Given the description of an element on the screen output the (x, y) to click on. 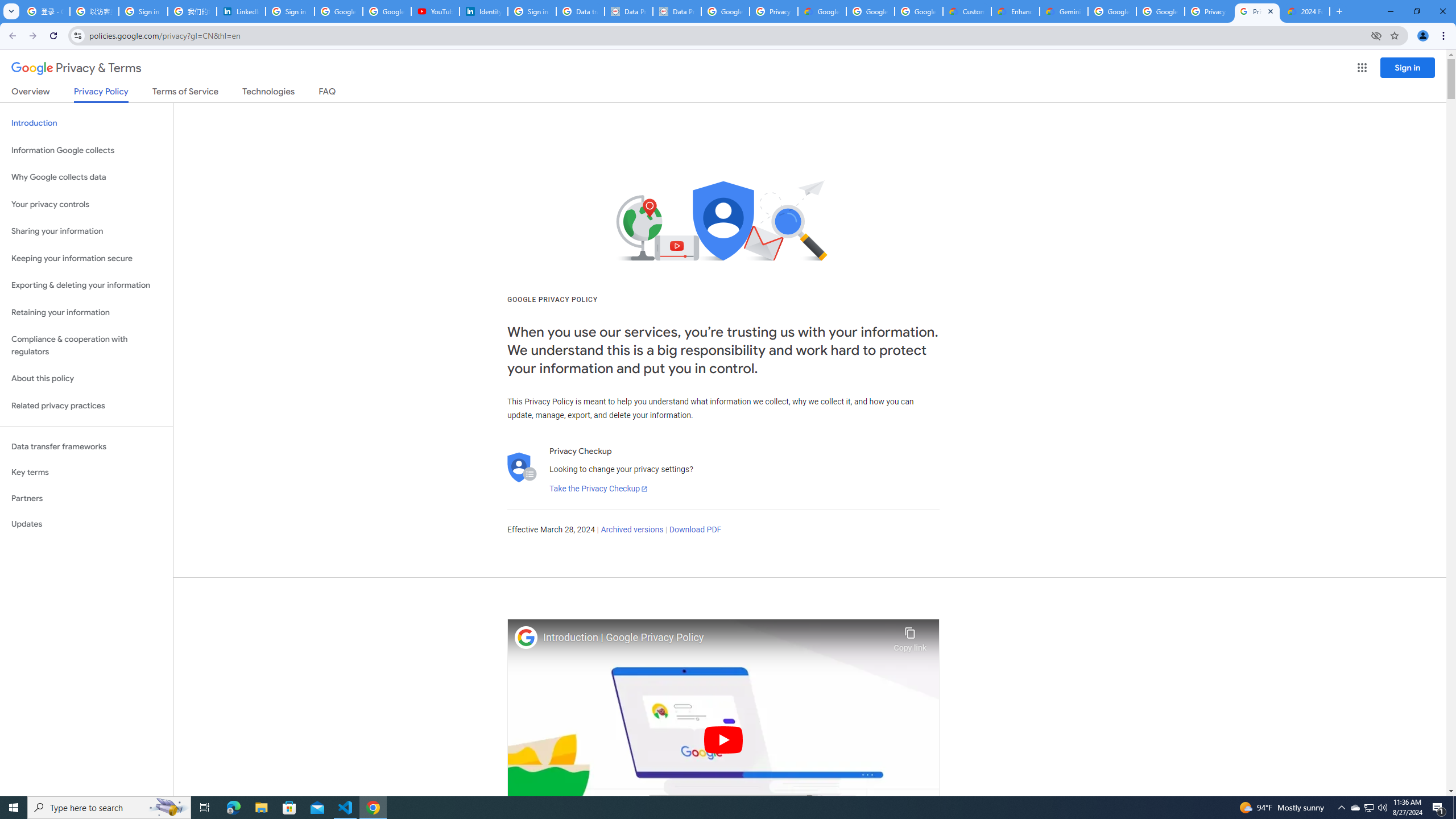
Data transfer frameworks (86, 446)
Exporting & deleting your information (86, 284)
Information Google collects (86, 150)
Google Workspace - Specific Terms (870, 11)
Sign in - Google Accounts (532, 11)
Introduction | Google Privacy Policy (715, 637)
About this policy (86, 379)
Copy link (909, 636)
